Given the description of an element on the screen output the (x, y) to click on. 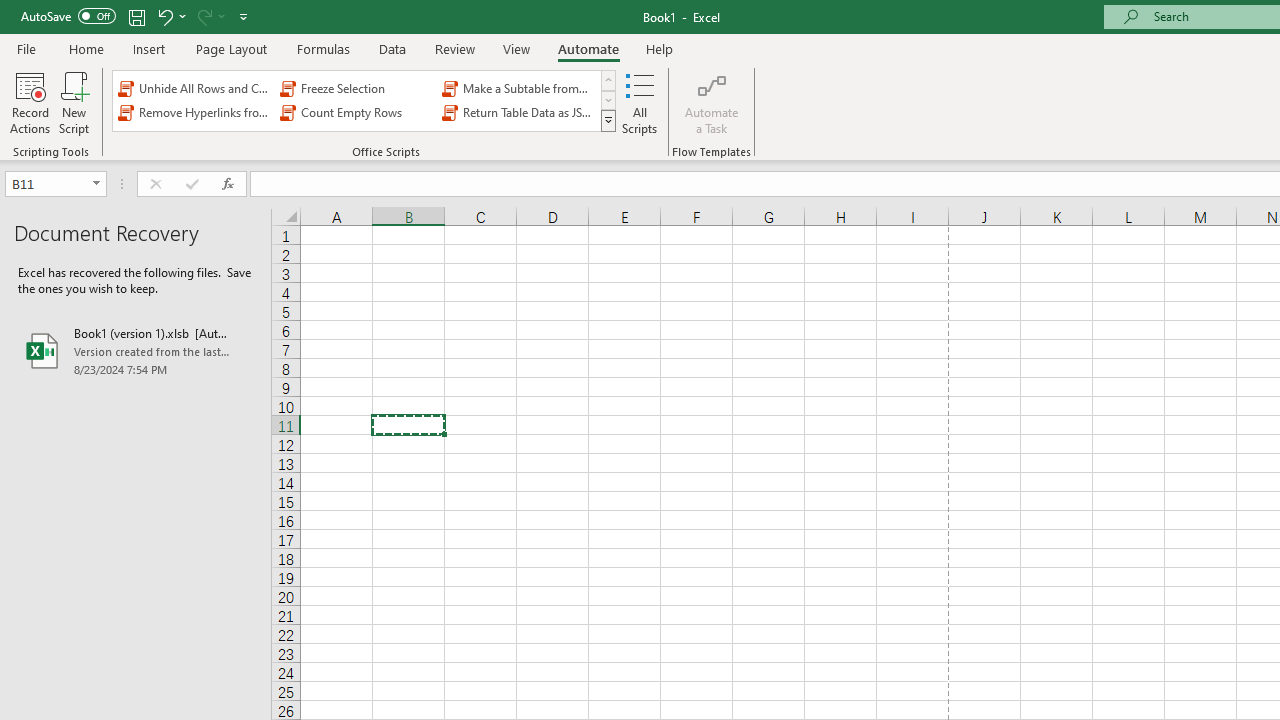
Record Actions (29, 102)
All Scripts (639, 102)
Freeze Selection (356, 88)
